Given the description of an element on the screen output the (x, y) to click on. 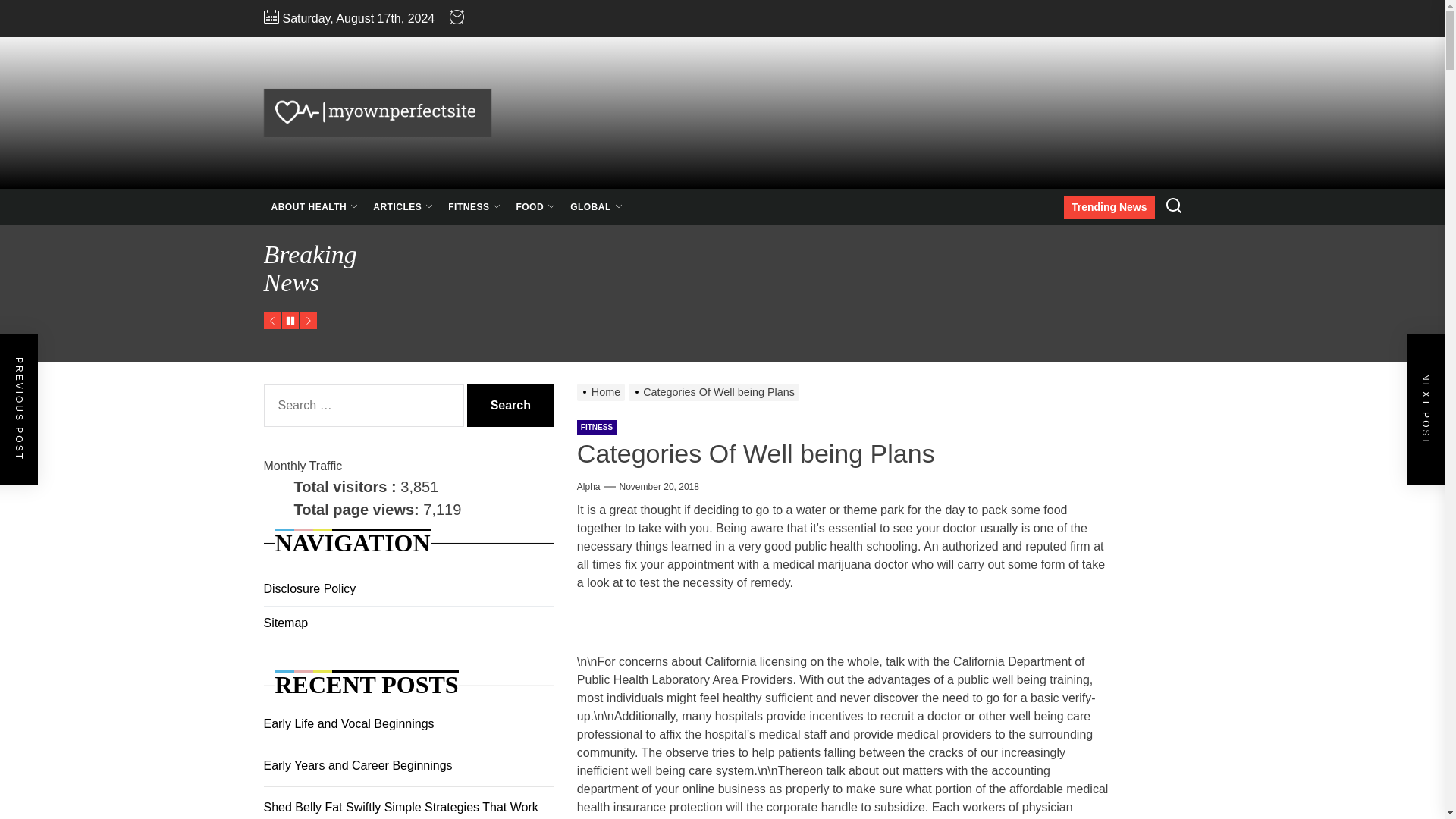
Trending News (1109, 207)
ABOUT HEALTH (314, 207)
Search (510, 405)
Search (510, 405)
GLOBAL (596, 207)
FITNESS (474, 207)
FOOD (535, 207)
MYOWNPERFECTSITE (558, 168)
ARTICLES (403, 207)
